Given the description of an element on the screen output the (x, y) to click on. 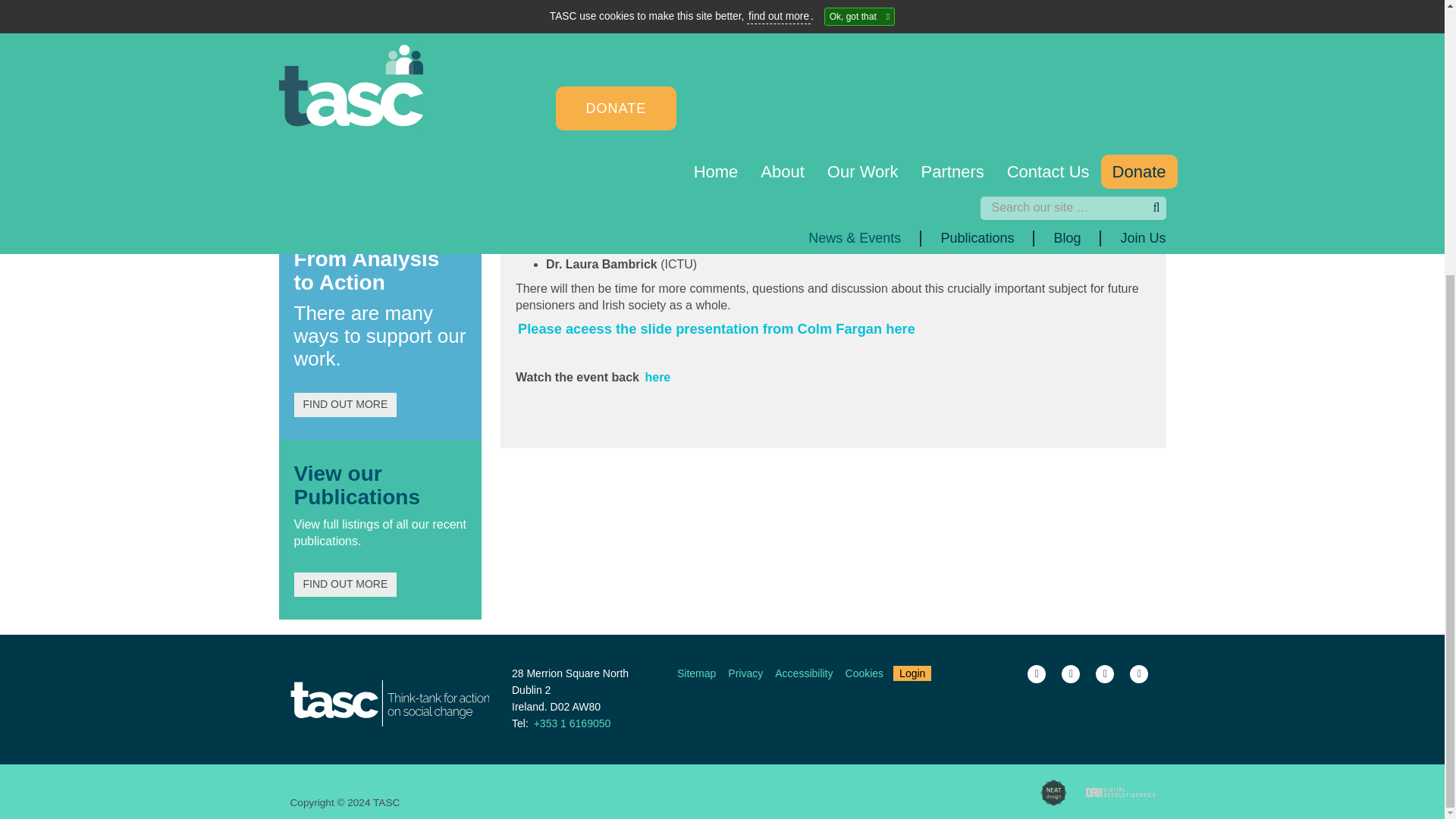
Please aceess the slide presentation from Colm Fargan here  (718, 328)
Site desgined by the Neat Design (1054, 792)
Assessing the Proposed Auto-enrollment Pension Scheme Event (657, 376)
Site developed by the Digital Revolutionaries (1120, 791)
